Given the description of an element on the screen output the (x, y) to click on. 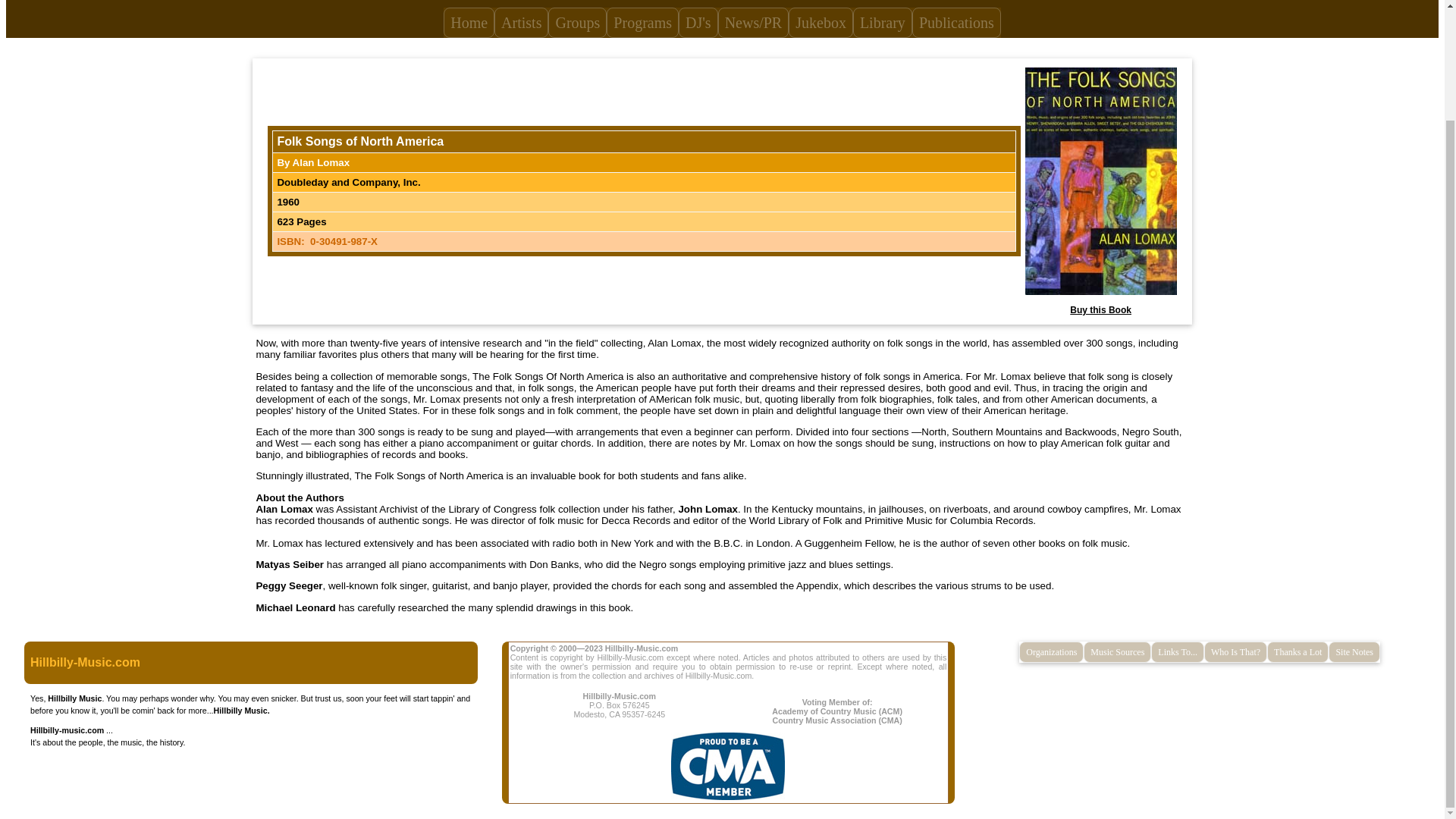
Artists (521, 22)
Publications (956, 22)
DJ's (697, 22)
Groups (577, 22)
Music Sources (1117, 651)
Library (882, 22)
Organizations (1051, 651)
Buy this Book (1100, 309)
Home (469, 22)
Jukebox (821, 22)
